Given the description of an element on the screen output the (x, y) to click on. 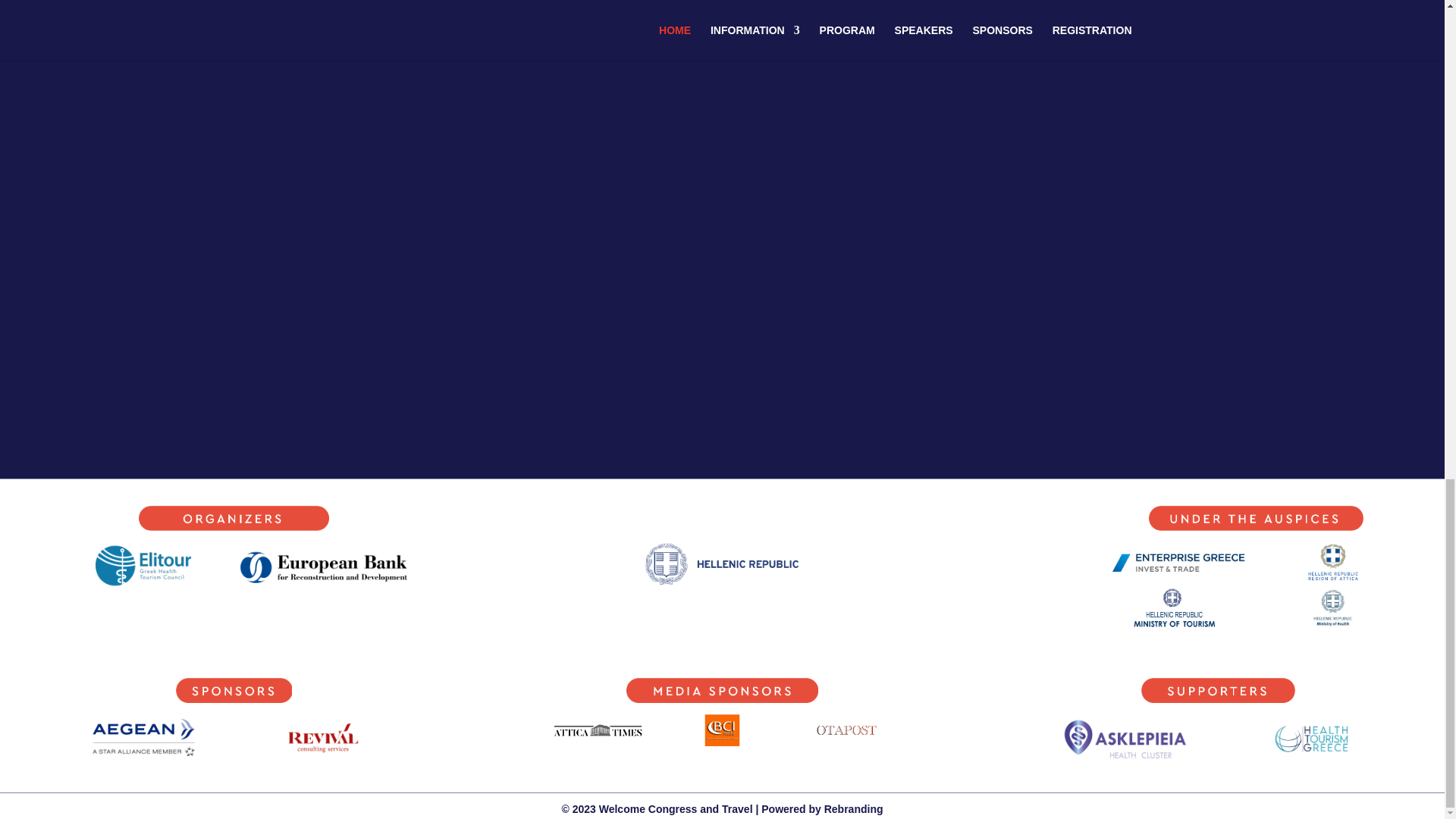
logos-01 (233, 518)
logos-02 (143, 565)
logos-21 (1333, 608)
logos-03 (323, 565)
logos-18 (1178, 608)
logos-05 (1256, 518)
logos-06 (1178, 562)
logos-19 (143, 737)
logos-20 (1333, 562)
